Given the description of an element on the screen output the (x, y) to click on. 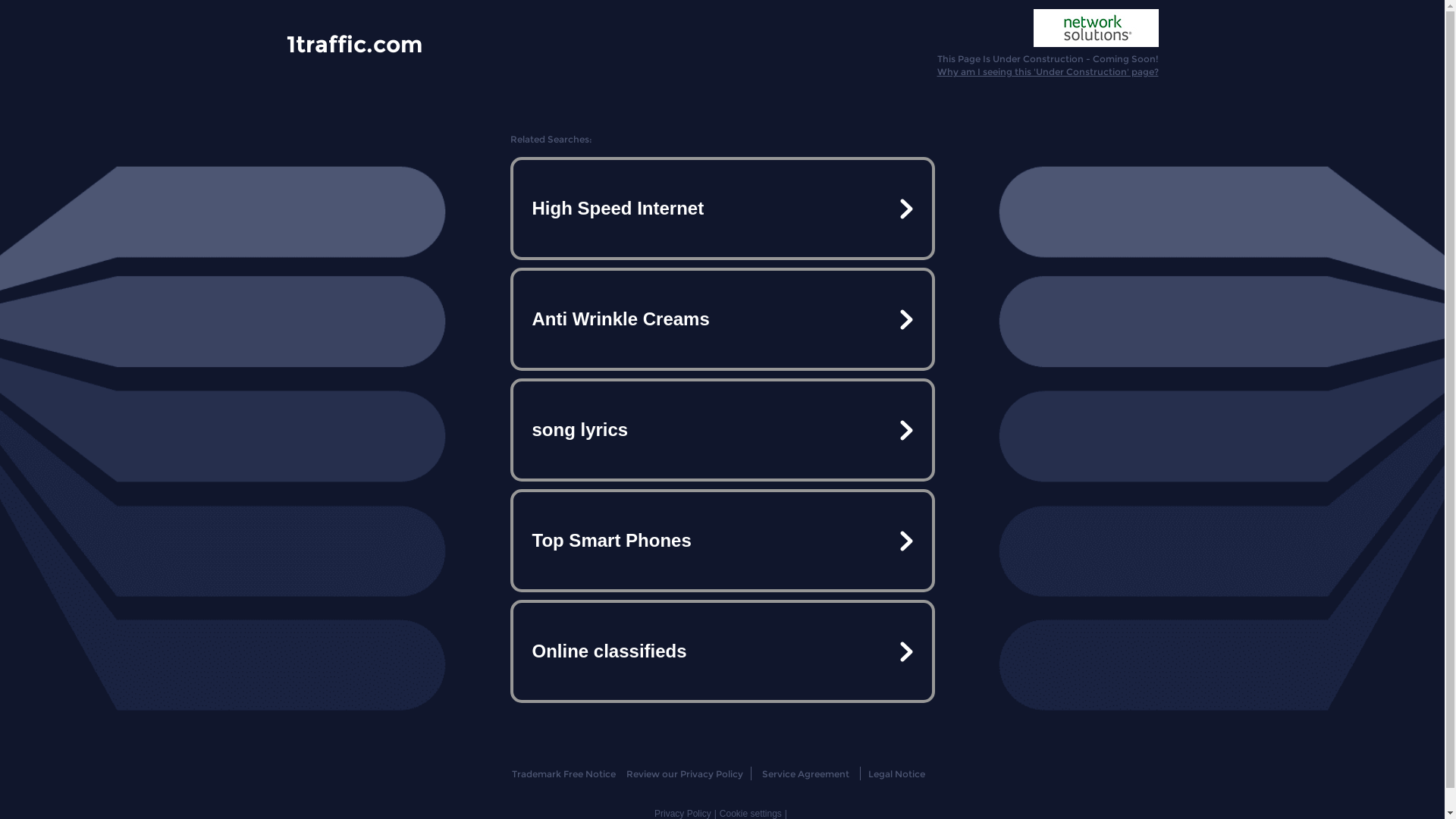
Trademark Free Notice Element type: text (563, 773)
song lyrics Element type: text (721, 429)
Online classifieds Element type: text (721, 650)
1traffic.com Element type: text (354, 43)
Anti Wrinkle Creams Element type: text (721, 318)
Top Smart Phones Element type: text (721, 540)
Legal Notice Element type: text (896, 773)
Service Agreement Element type: text (805, 773)
Review our Privacy Policy Element type: text (684, 773)
Why am I seeing this 'Under Construction' page? Element type: text (1047, 71)
High Speed Internet Element type: text (721, 208)
